Given the description of an element on the screen output the (x, y) to click on. 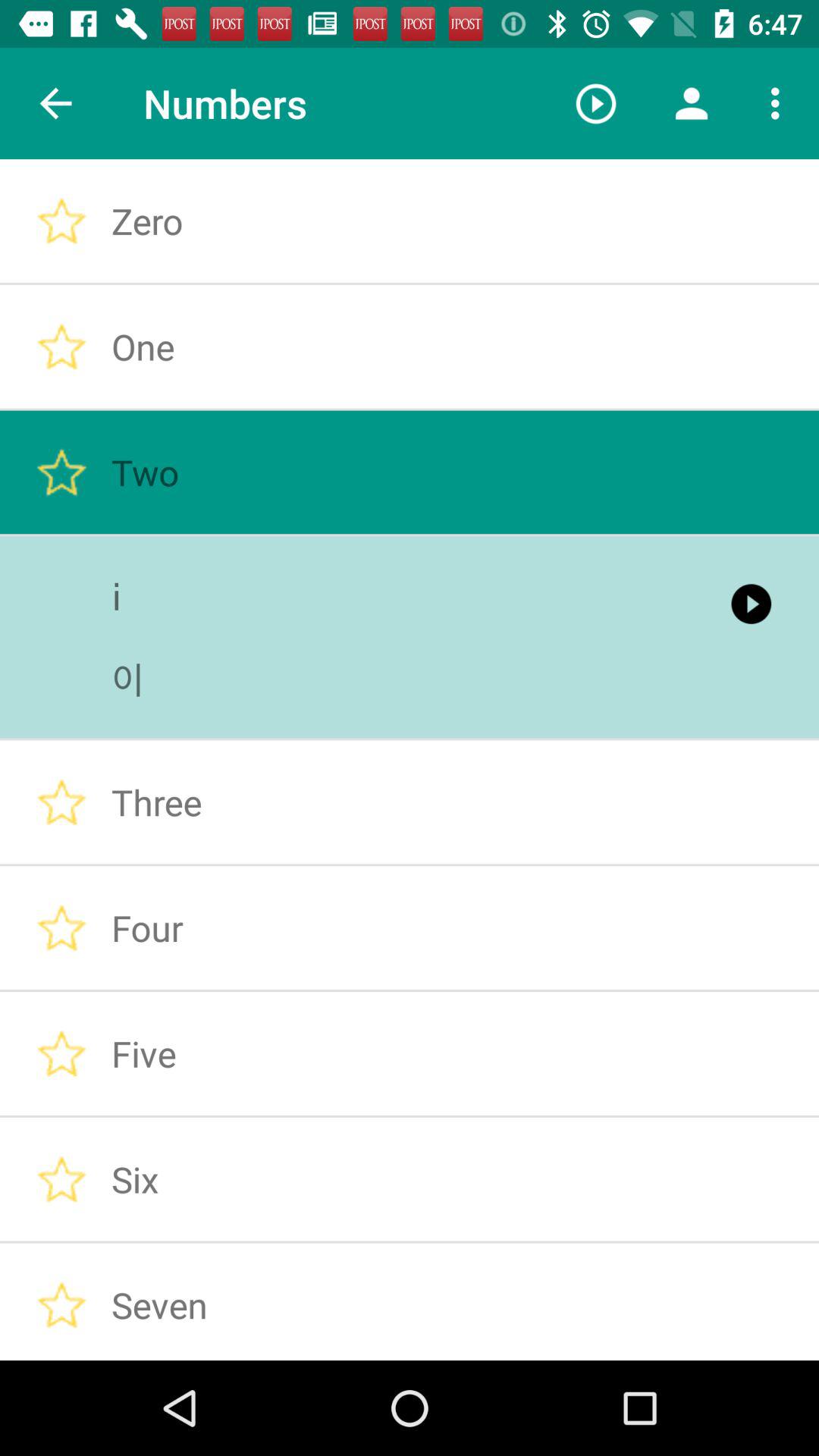
tap item to the left of the numbers item (55, 103)
